Given the description of an element on the screen output the (x, y) to click on. 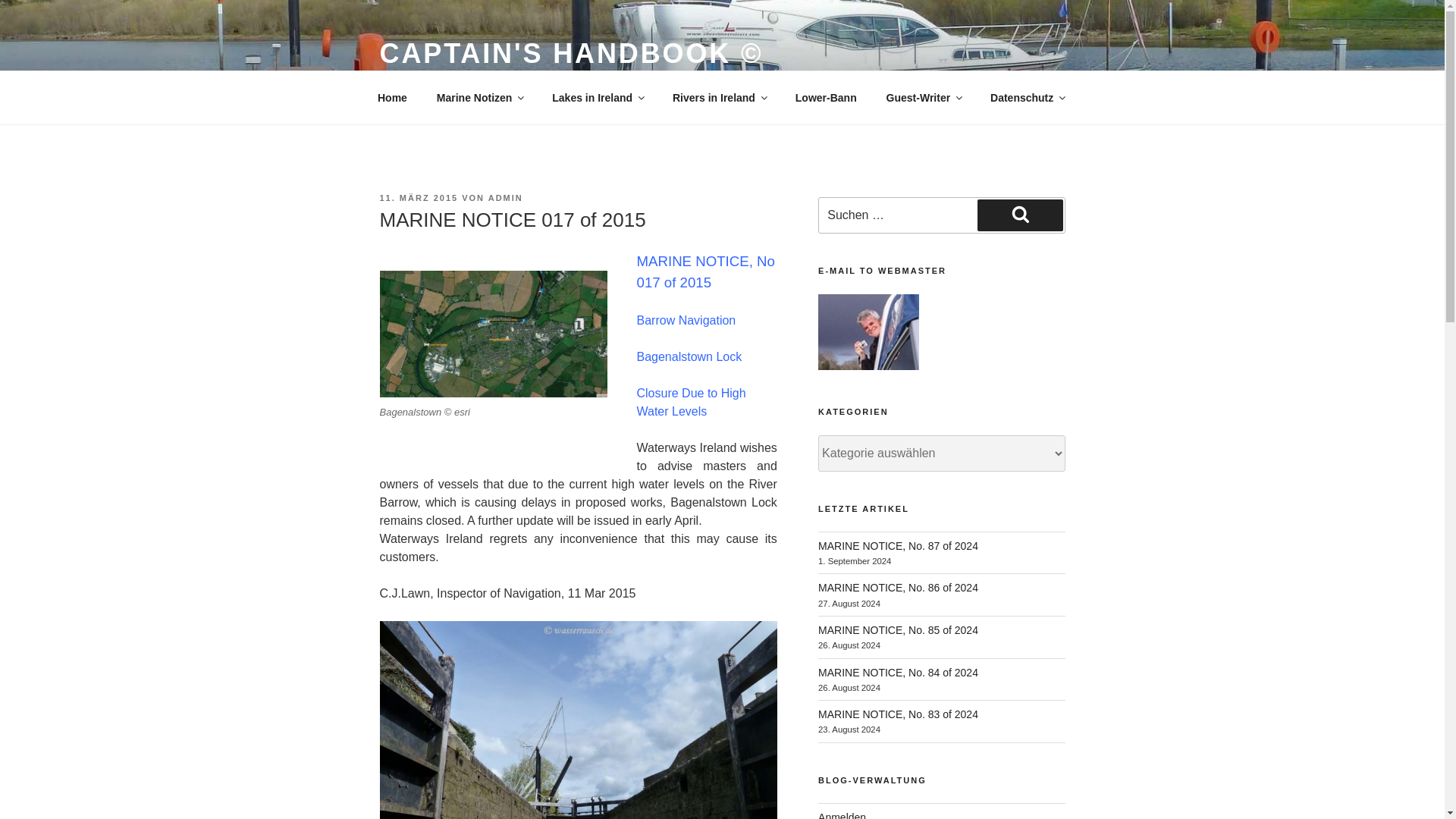
Home (392, 97)
Marine Notizen (479, 97)
Rivers in Ireland (718, 97)
Lakes in Ireland (597, 97)
E-mail Webmaster (868, 332)
